Given the description of an element on the screen output the (x, y) to click on. 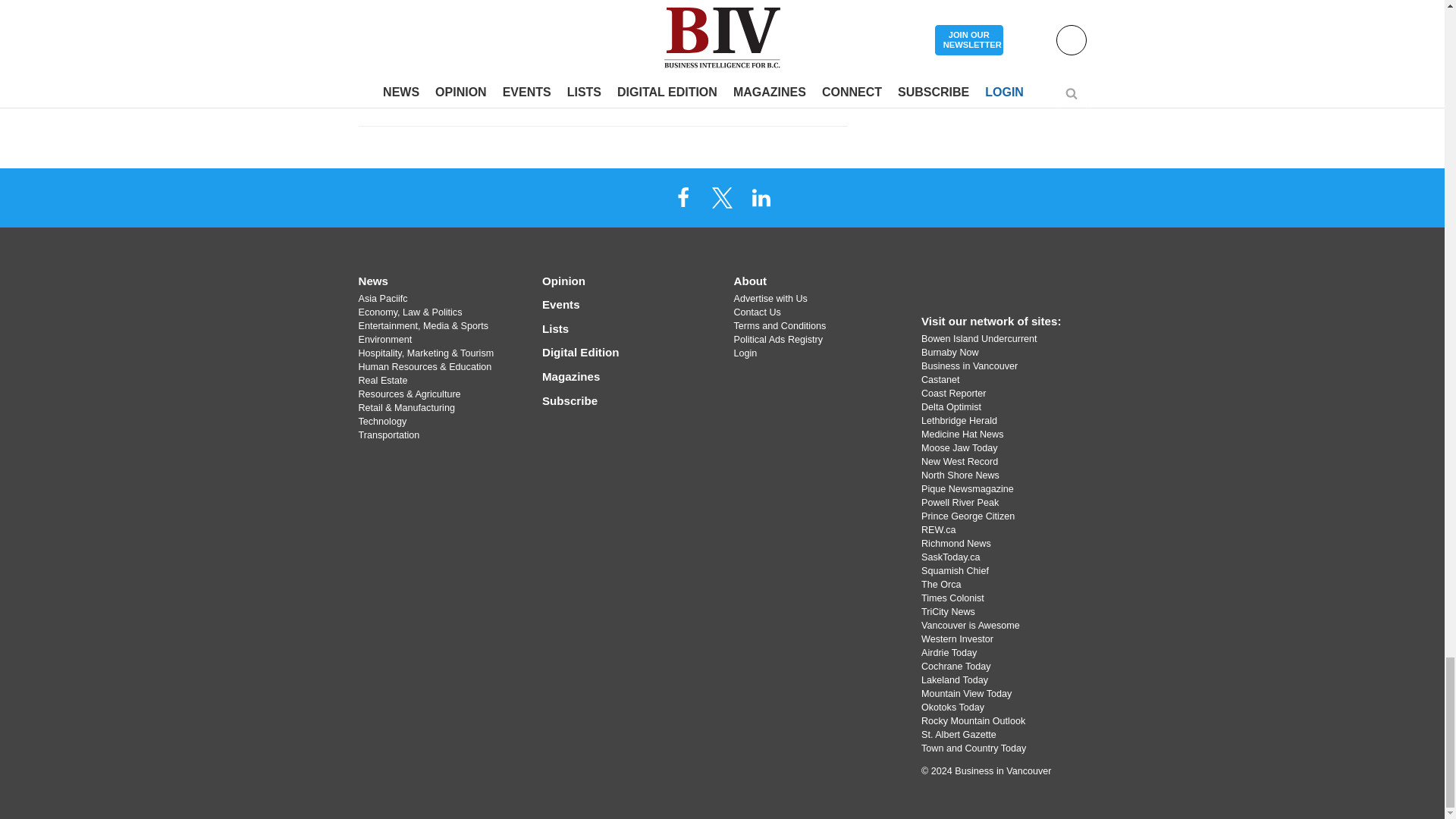
Facebook (683, 196)
X (721, 196)
LinkedIn (760, 196)
